Given the description of an element on the screen output the (x, y) to click on. 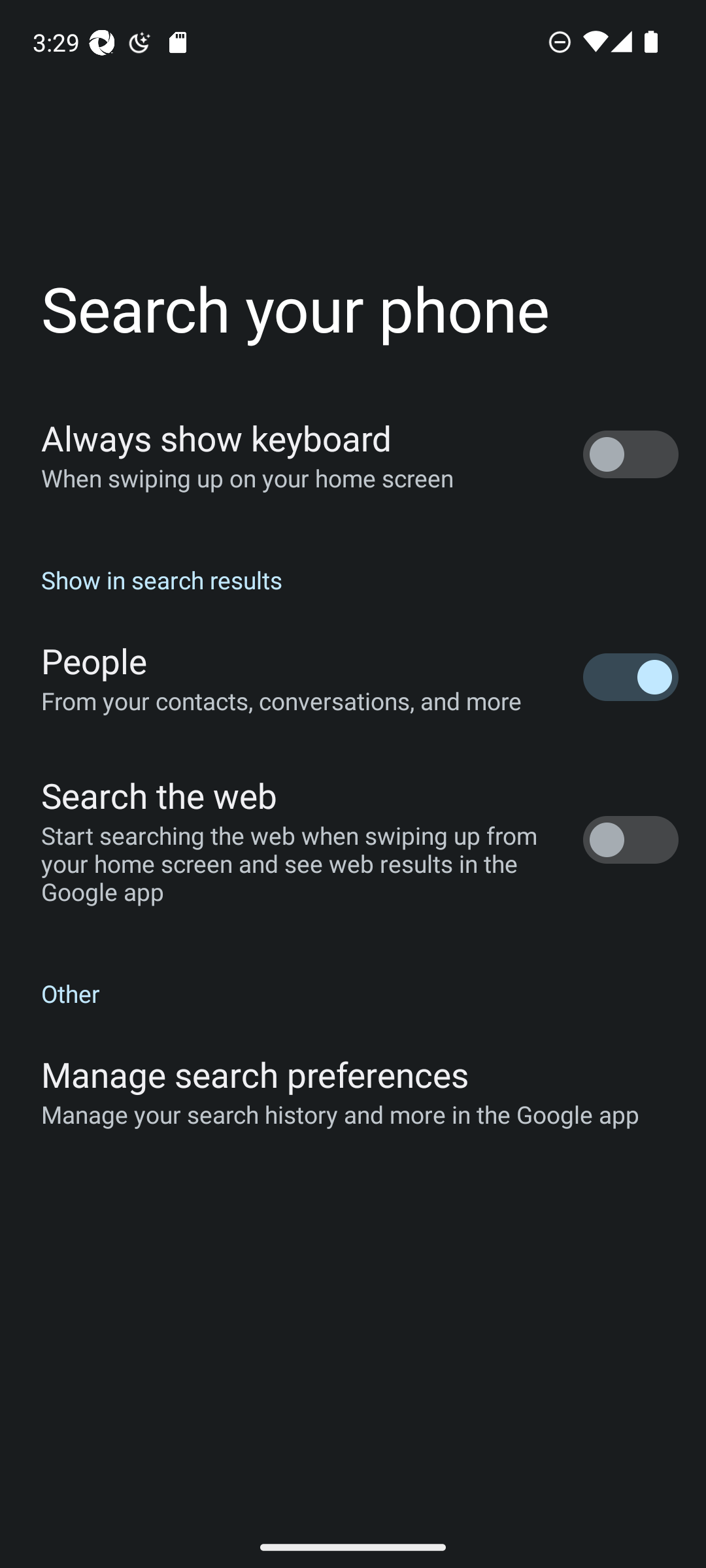
People From your contacts, conversations, and more (353, 676)
